Given the description of an element on the screen output the (x, y) to click on. 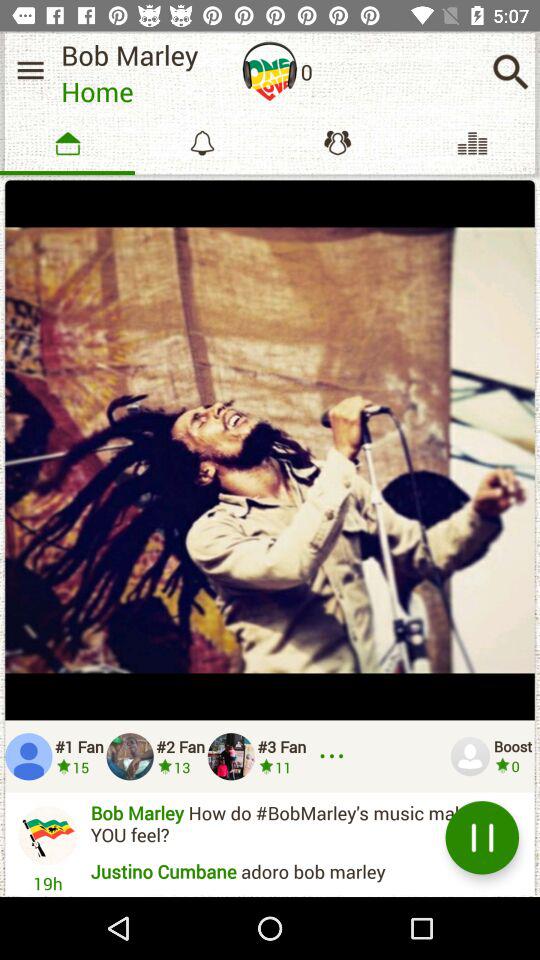
see more (335, 756)
